Given the description of an element on the screen output the (x, y) to click on. 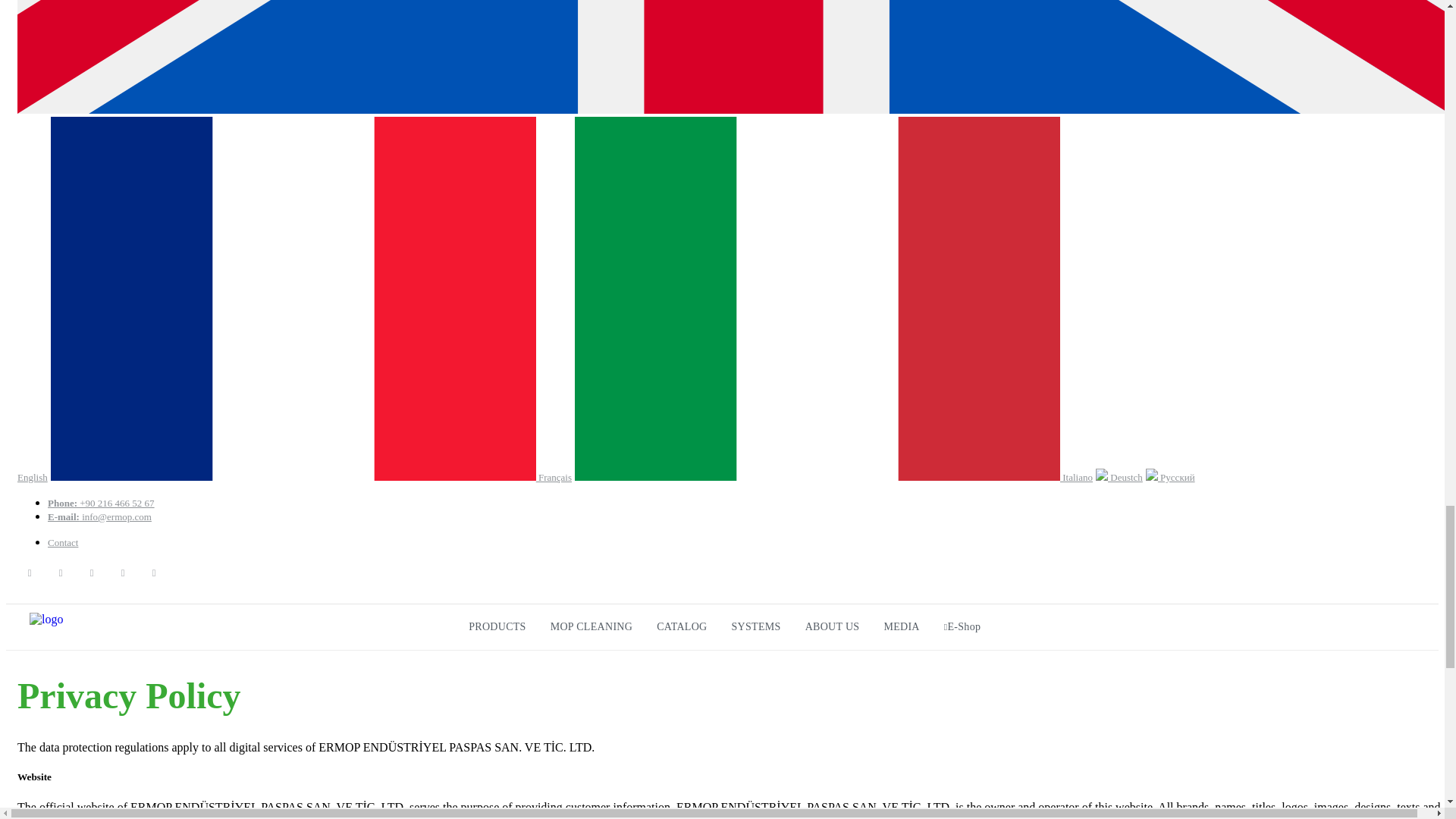
Contact (63, 542)
PRODUCTS (497, 627)
Deustch (1119, 477)
Italiano (834, 477)
